Given the description of an element on the screen output the (x, y) to click on. 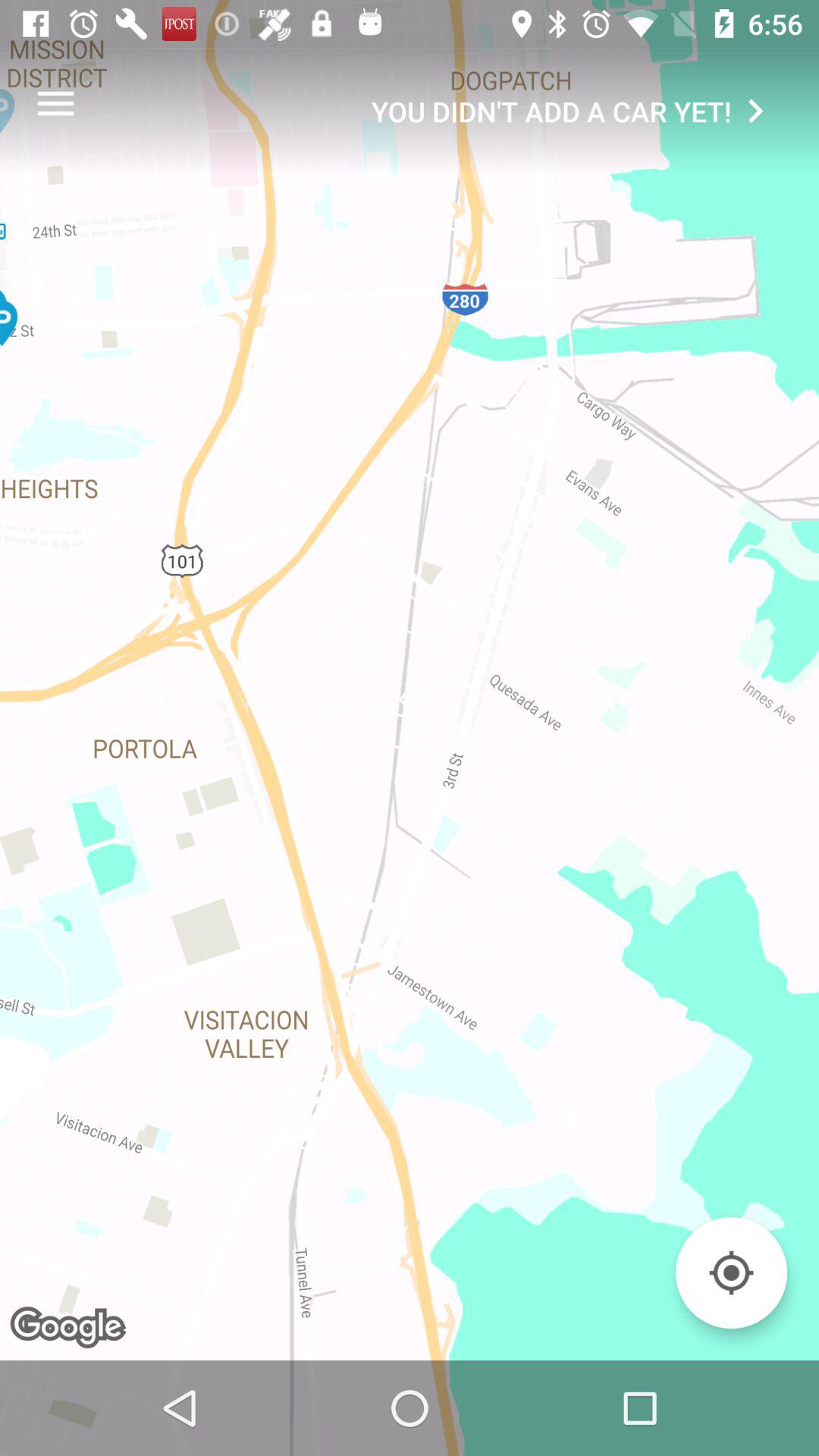
scroll to the you didn t icon (575, 111)
